Given the description of an element on the screen output the (x, y) to click on. 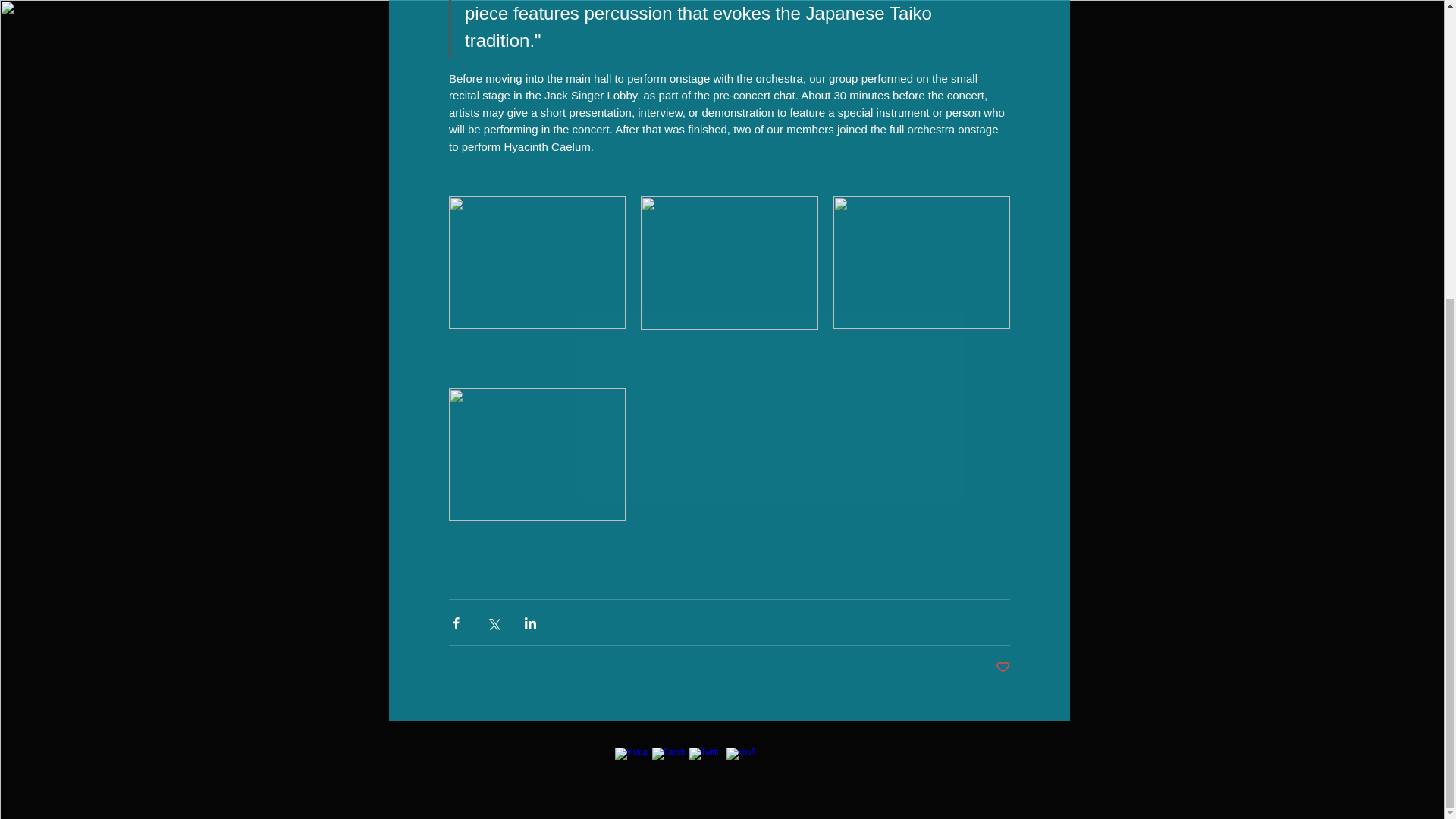
Post not marked as liked (1001, 667)
